Given the description of an element on the screen output the (x, y) to click on. 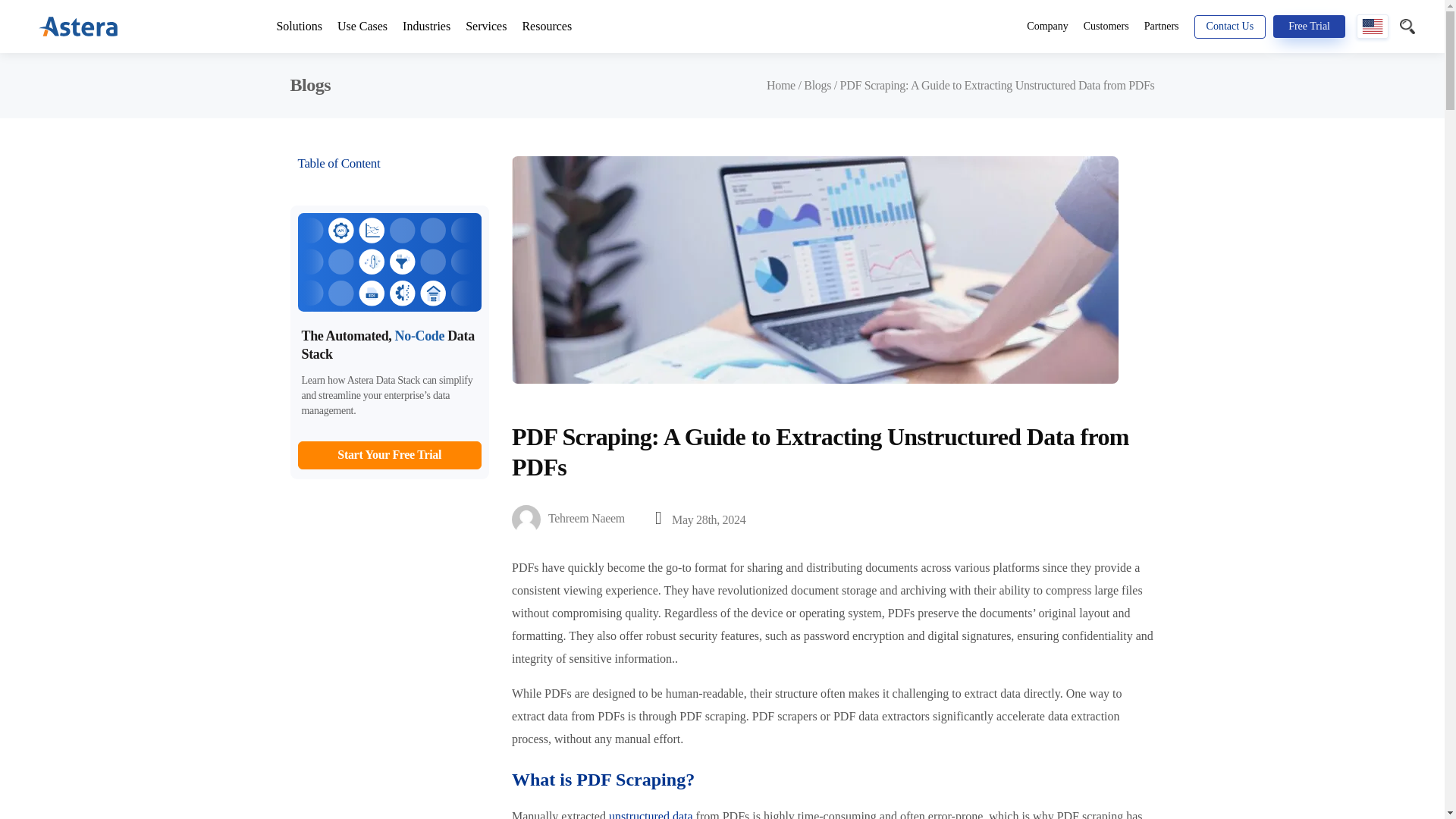
Resources (546, 26)
Industries (426, 26)
Solutions (298, 26)
Services (485, 26)
Use Cases (362, 26)
